Given the description of an element on the screen output the (x, y) to click on. 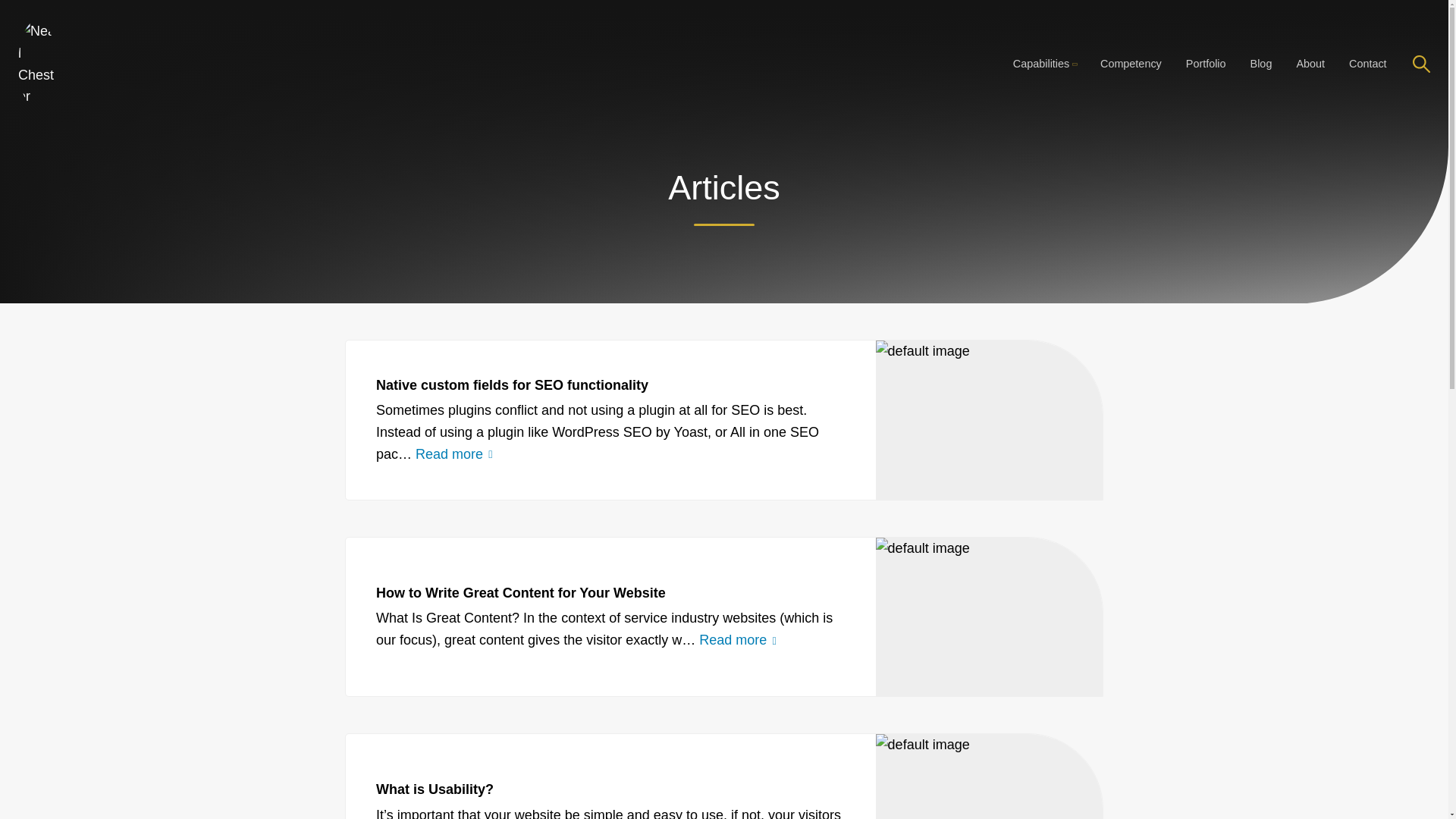
Speed Optimization (1043, 35)
CRO Web Design (1043, 21)
Contact (1367, 34)
About (1310, 28)
Portfolio (1206, 18)
Blog (1261, 23)
